Given the description of an element on the screen output the (x, y) to click on. 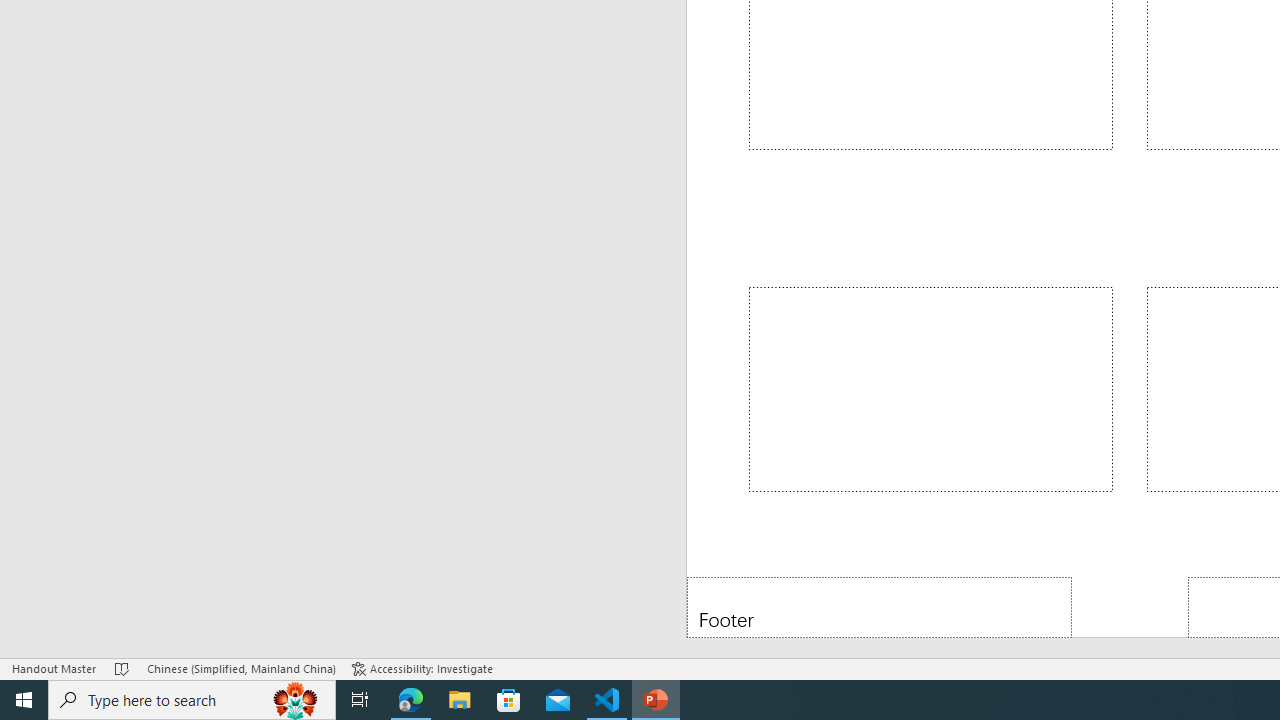
Footer (879, 606)
